Given the description of an element on the screen output the (x, y) to click on. 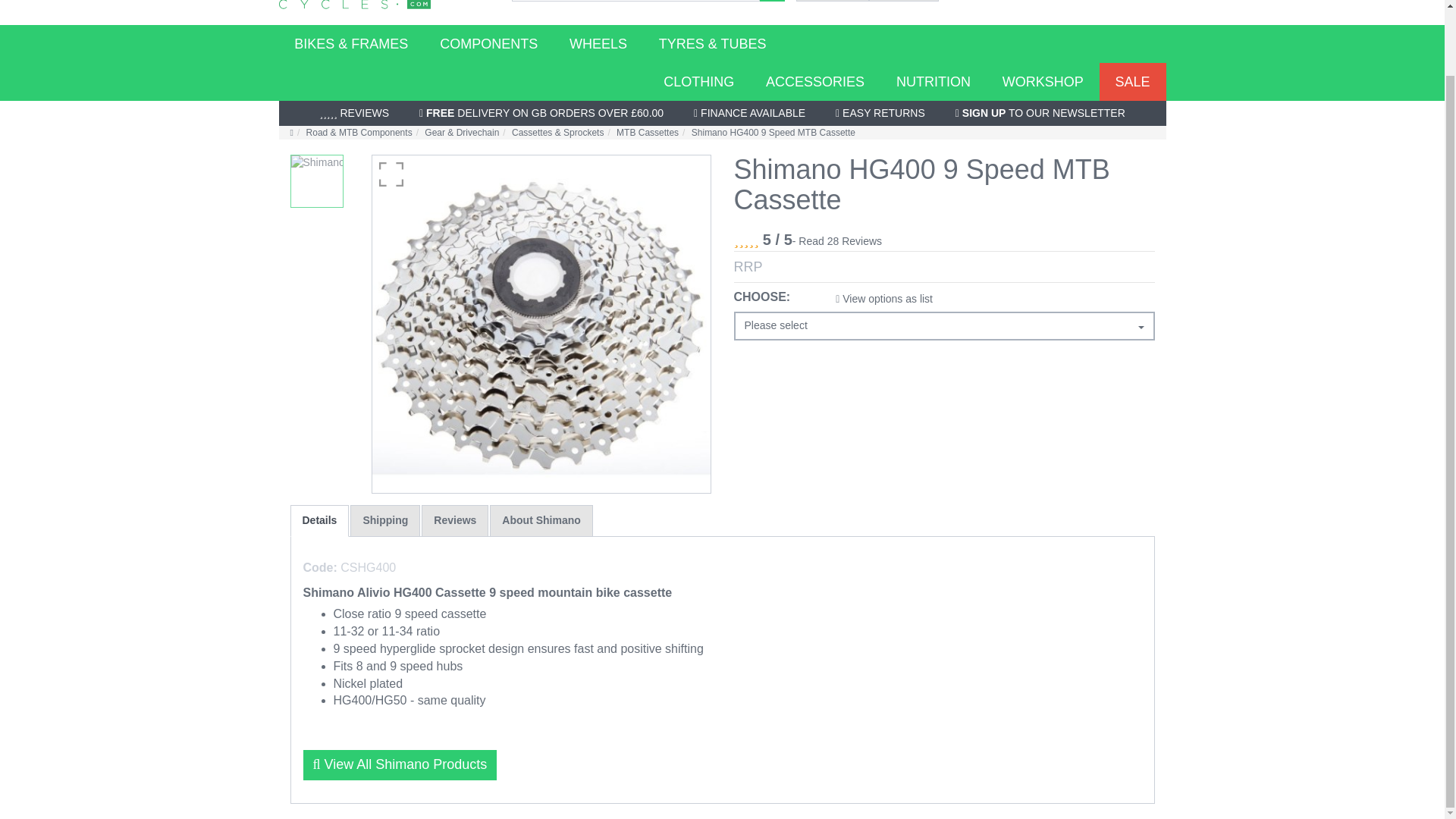
EASY RETURNS (879, 113)
NUTRITION (933, 81)
MTB Cassettes (646, 132)
View Shimano HG400 9 Speed MTB Cassette (315, 181)
WORKSHOP (1043, 81)
REVIEWS (353, 113)
ACCESSORIES (814, 81)
View All Shimano Products (399, 765)
WHEELS (598, 44)
Read all reviews for Shimano HG400 9 Speed MTB Cassette (837, 241)
